Given the description of an element on the screen output the (x, y) to click on. 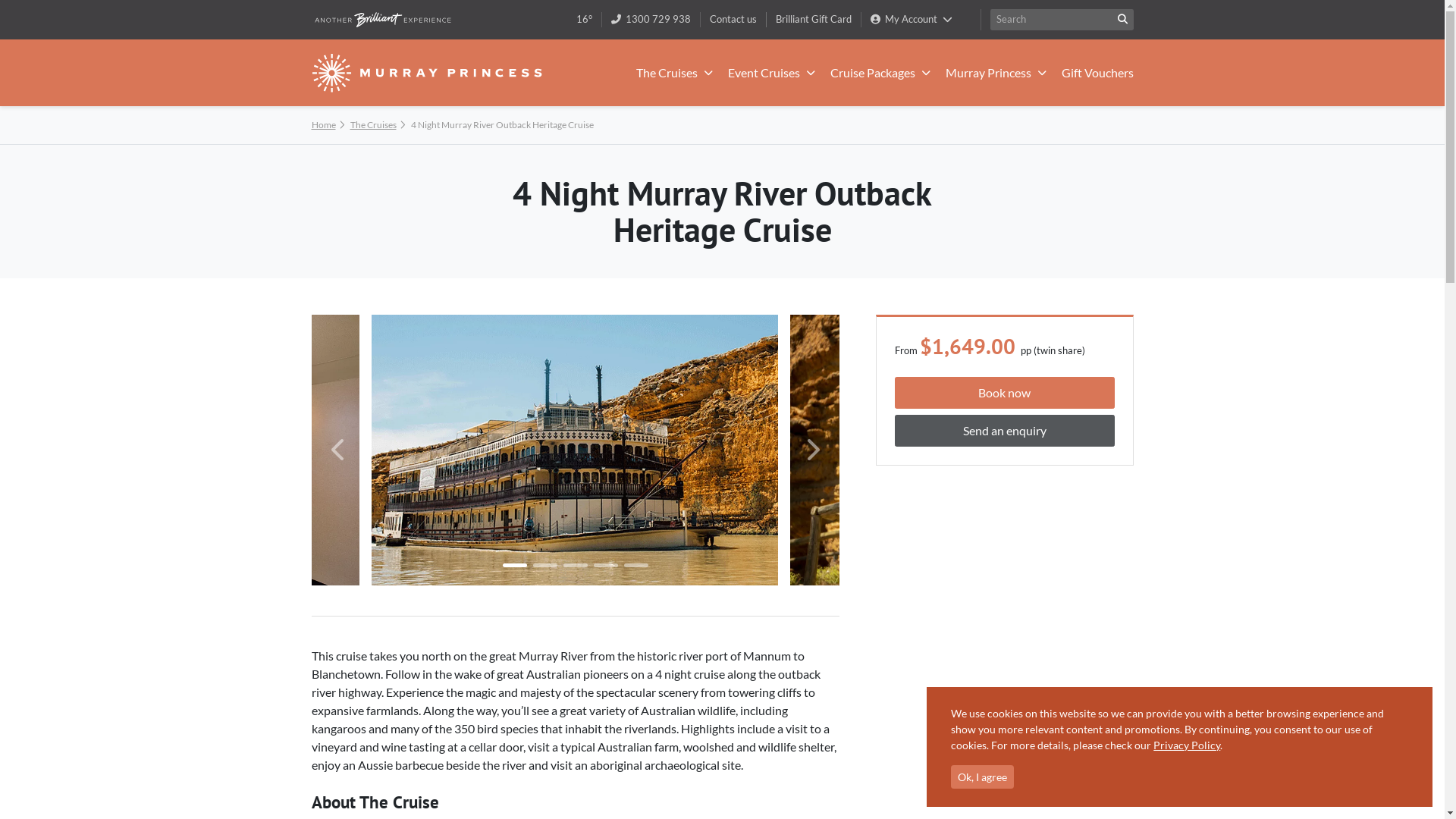
My Account Element type: text (911, 19)
Book now Element type: text (1004, 392)
Privacy Policy Element type: text (1186, 744)
Brilliant Gift Card Element type: text (813, 18)
Murray Princess Element type: hover (426, 72)
Contact us Element type: text (732, 18)
Cruise Packages Element type: text (879, 72)
Send an enquiry Element type: text (1004, 430)
Murray Princess Element type: text (994, 72)
Visit Brilliant Travels Element type: hover (381, 19)
Event Cruises Element type: text (771, 72)
Next Element type: text (811, 450)
The Cruises Element type: text (673, 72)
Home Element type: text (322, 123)
Ok, I agree Element type: text (981, 776)
The Cruises Element type: text (373, 123)
1300 729 938 Element type: text (650, 18)
Prev Element type: text (338, 450)
Gift Vouchers Element type: text (1097, 72)
